Given the description of an element on the screen output the (x, y) to click on. 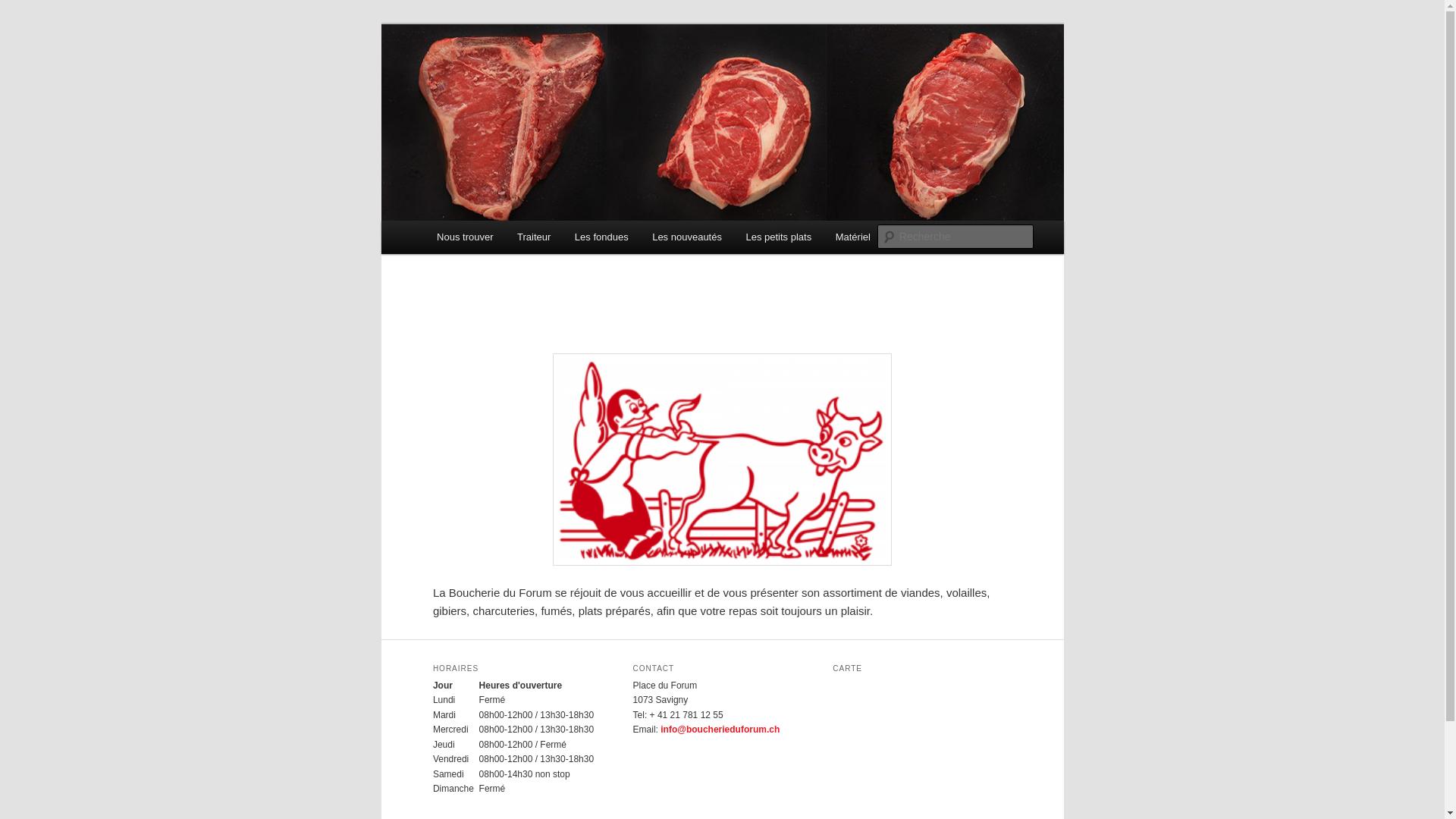
Aller au contenu principal Element type: text (22, 22)
info@boucherieduforum.ch Element type: text (719, 729)
Les fondues Element type: text (601, 236)
Boucherie du forum Element type: text (541, 78)
Nous trouver Element type: text (464, 236)
Les petits plats Element type: text (778, 236)
Recherche Element type: text (33, 8)
Traiteur Element type: text (533, 236)
